Given the description of an element on the screen output the (x, y) to click on. 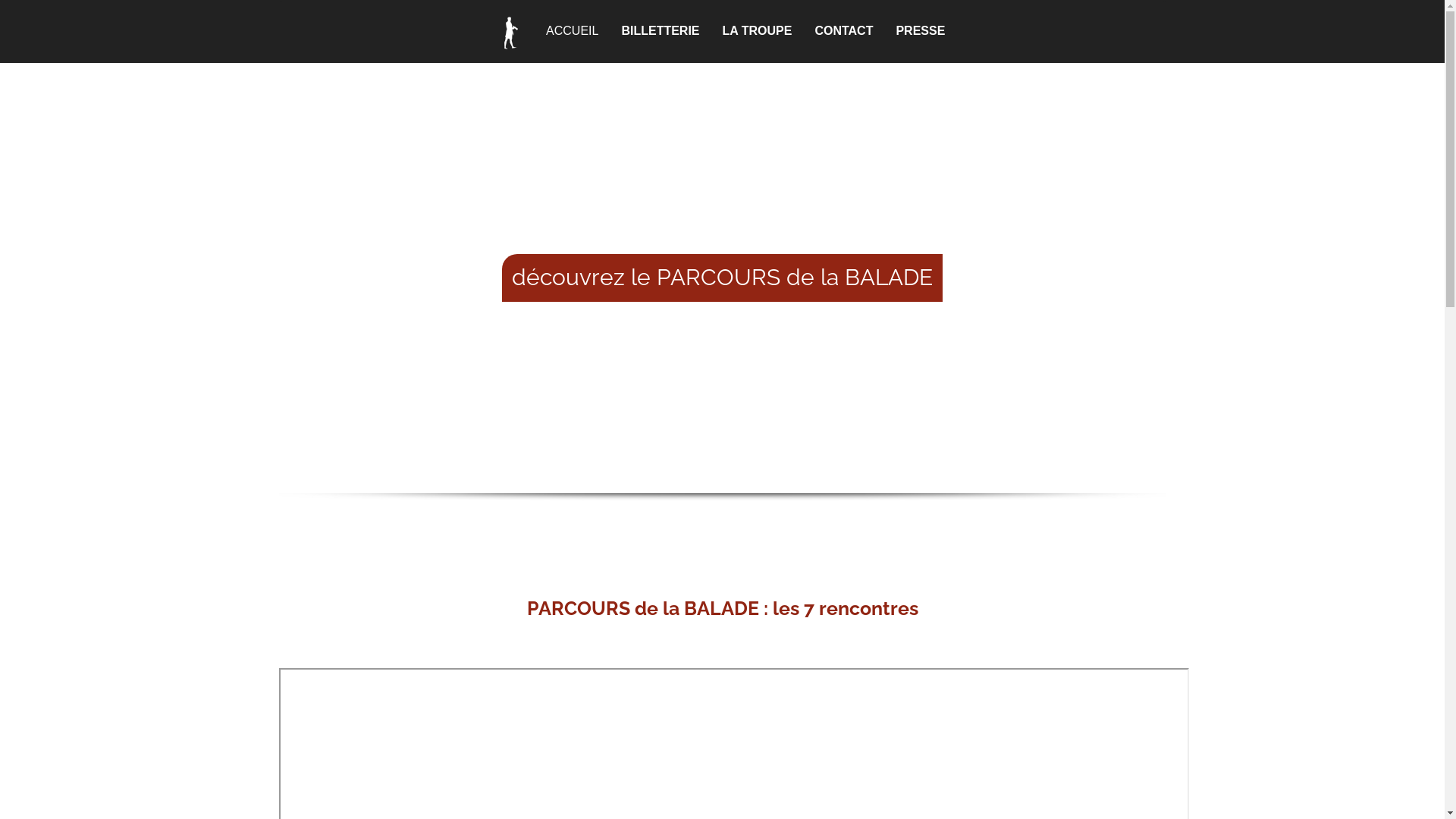
PRESSE Element type: text (920, 31)
BILLETTERIE Element type: text (659, 31)
LA TROUPE Element type: text (757, 31)
CONTACT Element type: text (843, 31)
ACCUEIL Element type: text (549, 31)
